Given the description of an element on the screen output the (x, y) to click on. 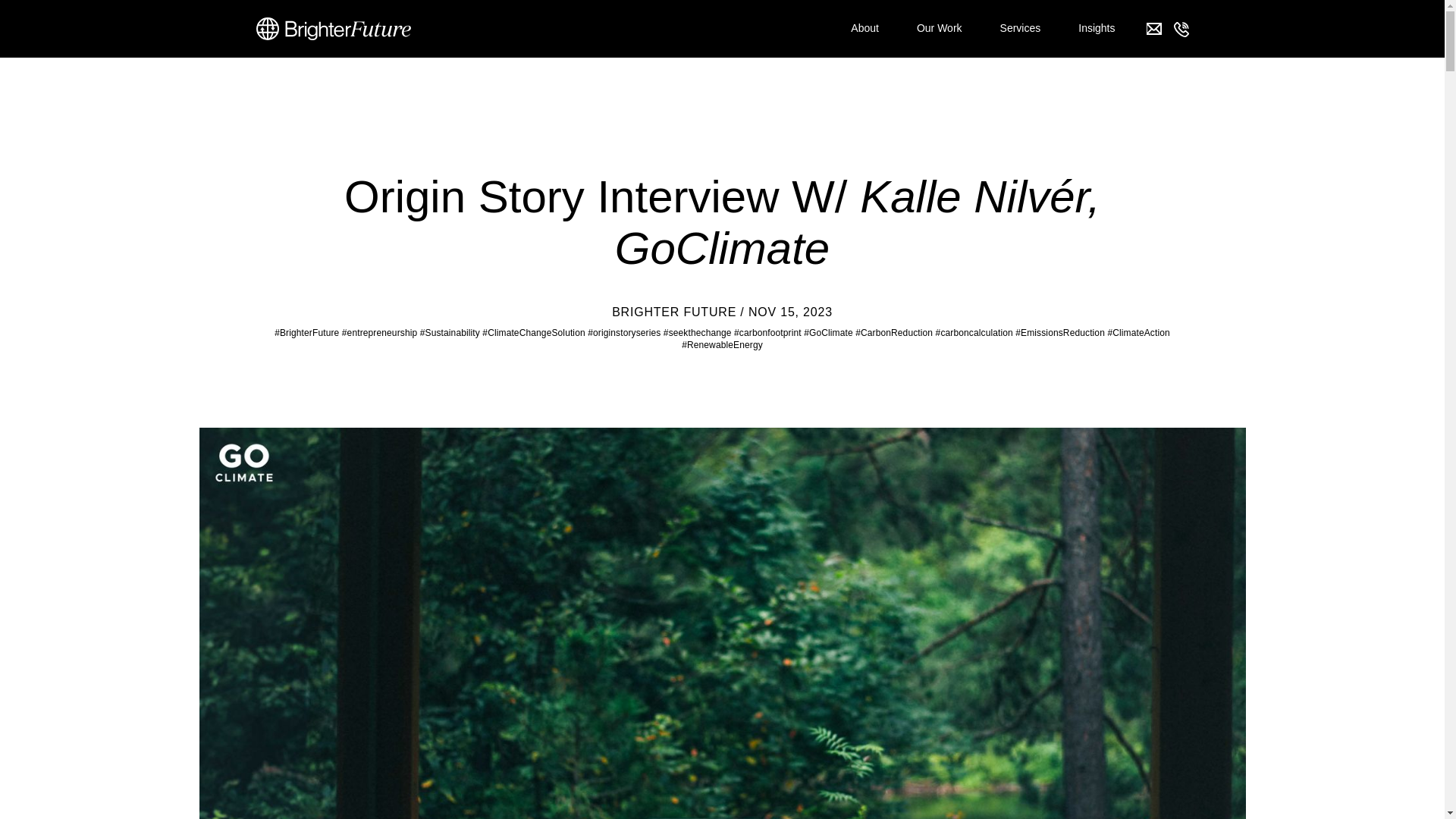
Services (1020, 28)
Insights (1096, 28)
Our Work (939, 28)
About (864, 28)
